Given the description of an element on the screen output the (x, y) to click on. 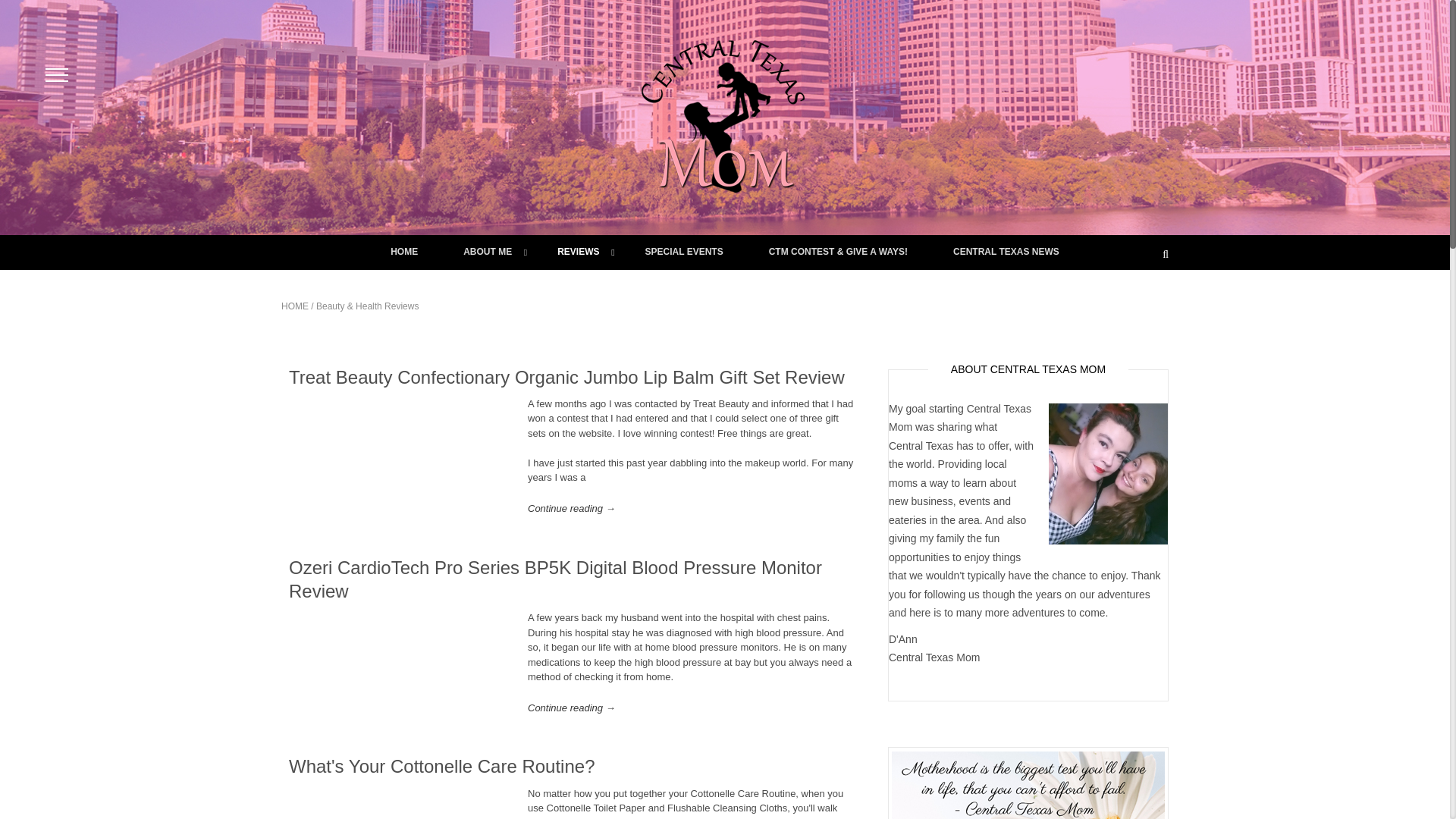
HOME (404, 252)
CENTRAL TEXAS NEWS (1005, 252)
SPECIAL EVENTS (684, 252)
ABOUT ME (487, 252)
HOME (294, 306)
REVIEWS (577, 252)
